Given the description of an element on the screen output the (x, y) to click on. 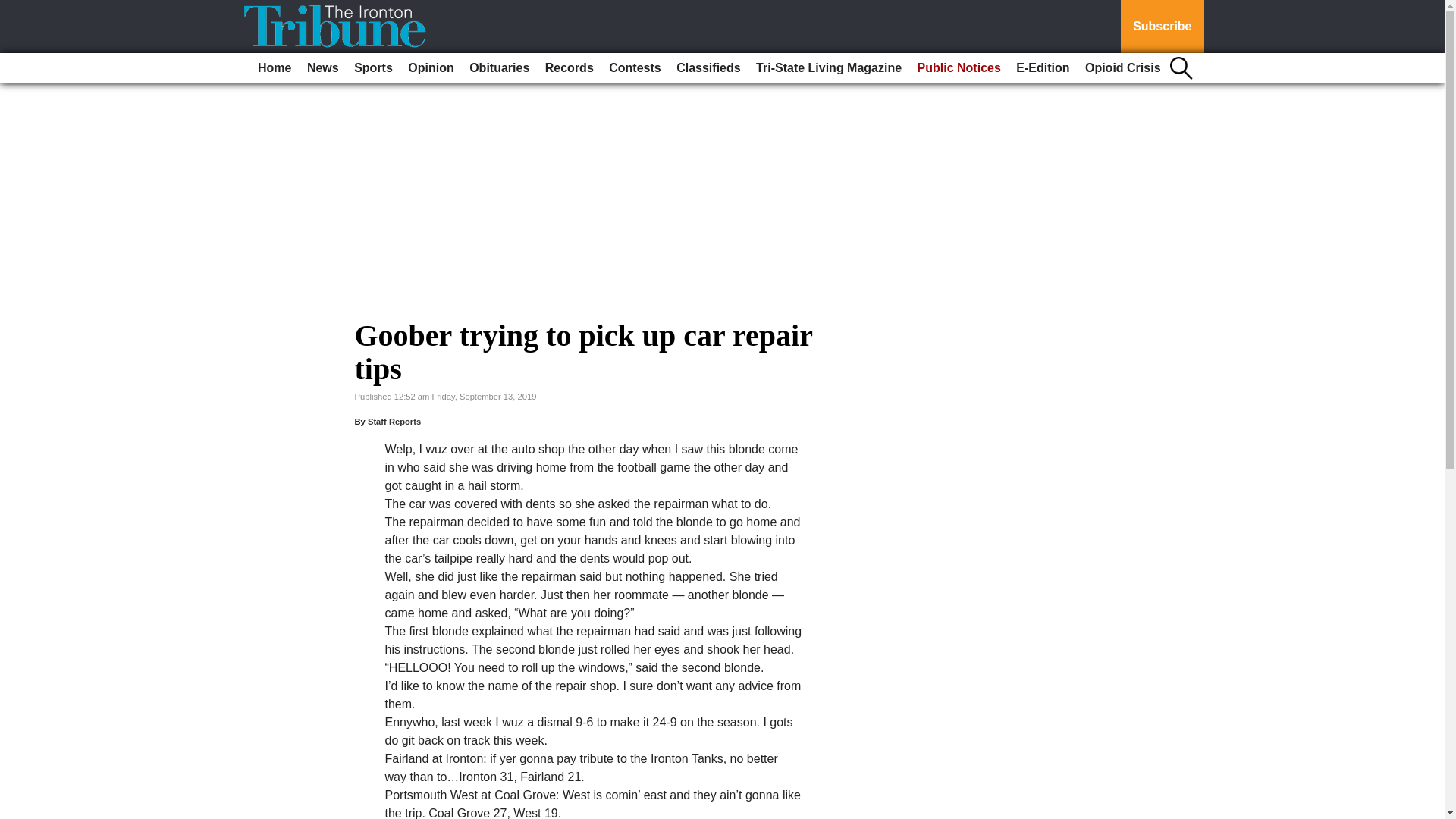
Contests (634, 68)
Sports (372, 68)
Public Notices (959, 68)
Home (274, 68)
Obituaries (499, 68)
Tri-State Living Magazine (828, 68)
E-Edition (1042, 68)
Staff Reports (394, 420)
Opioid Crisis (1122, 68)
Subscribe (1162, 26)
